Given the description of an element on the screen output the (x, y) to click on. 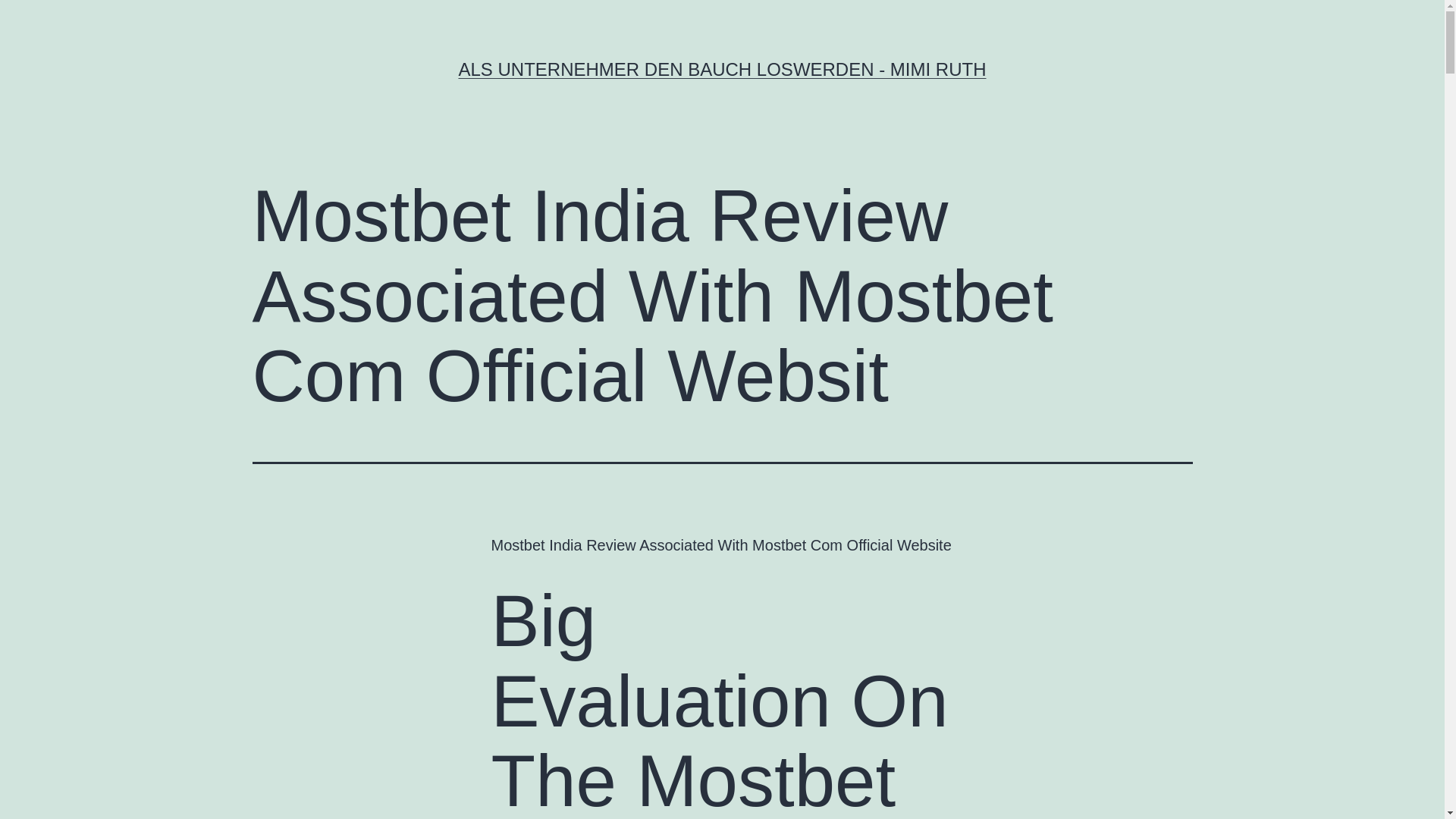
ALS UNTERNEHMER DEN BAUCH LOSWERDEN - MIMI RUTH (721, 68)
